Given the description of an element on the screen output the (x, y) to click on. 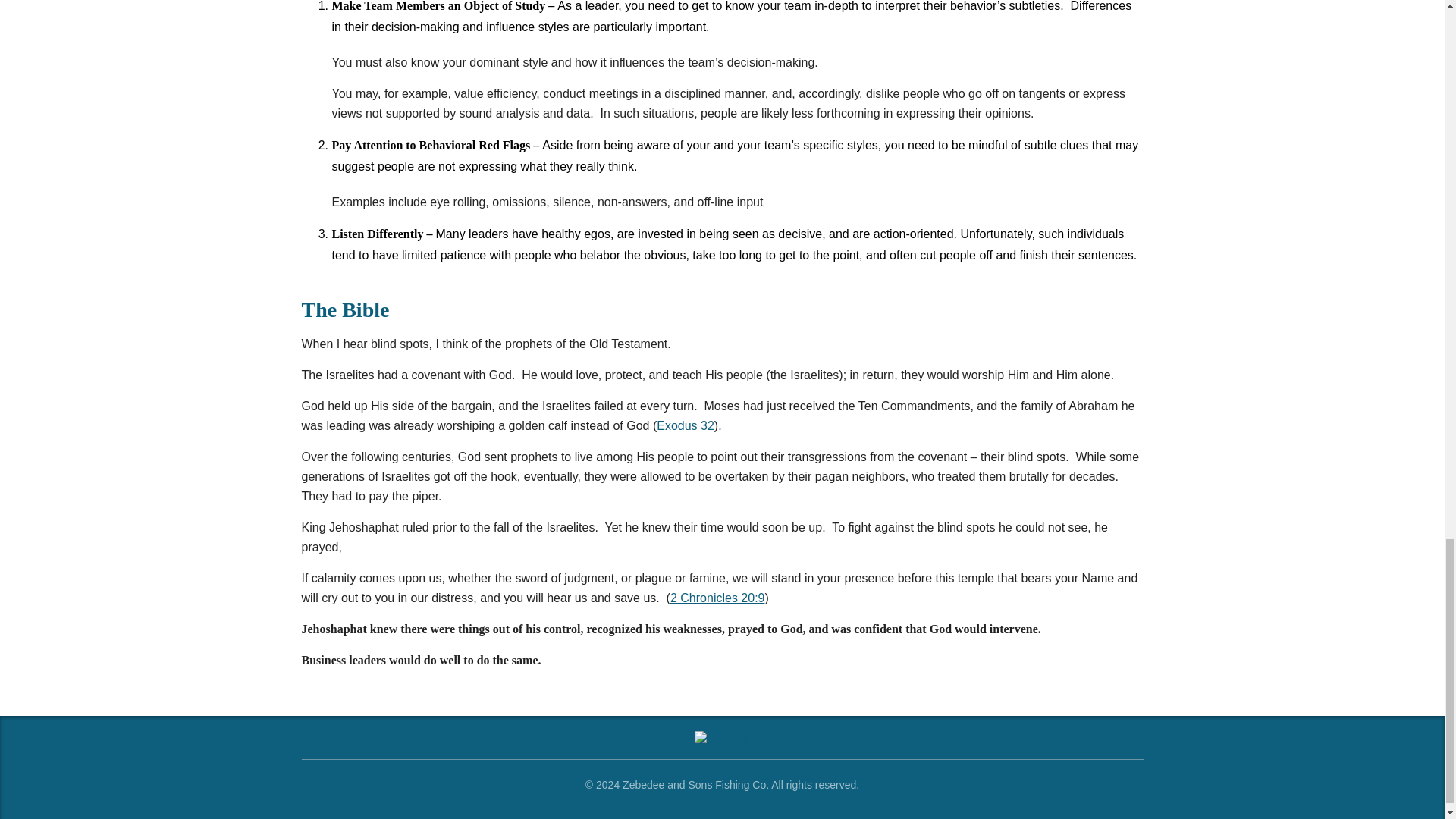
2 Chronicles 20:9 (717, 597)
Exodus 32 (685, 425)
